Given the description of an element on the screen output the (x, y) to click on. 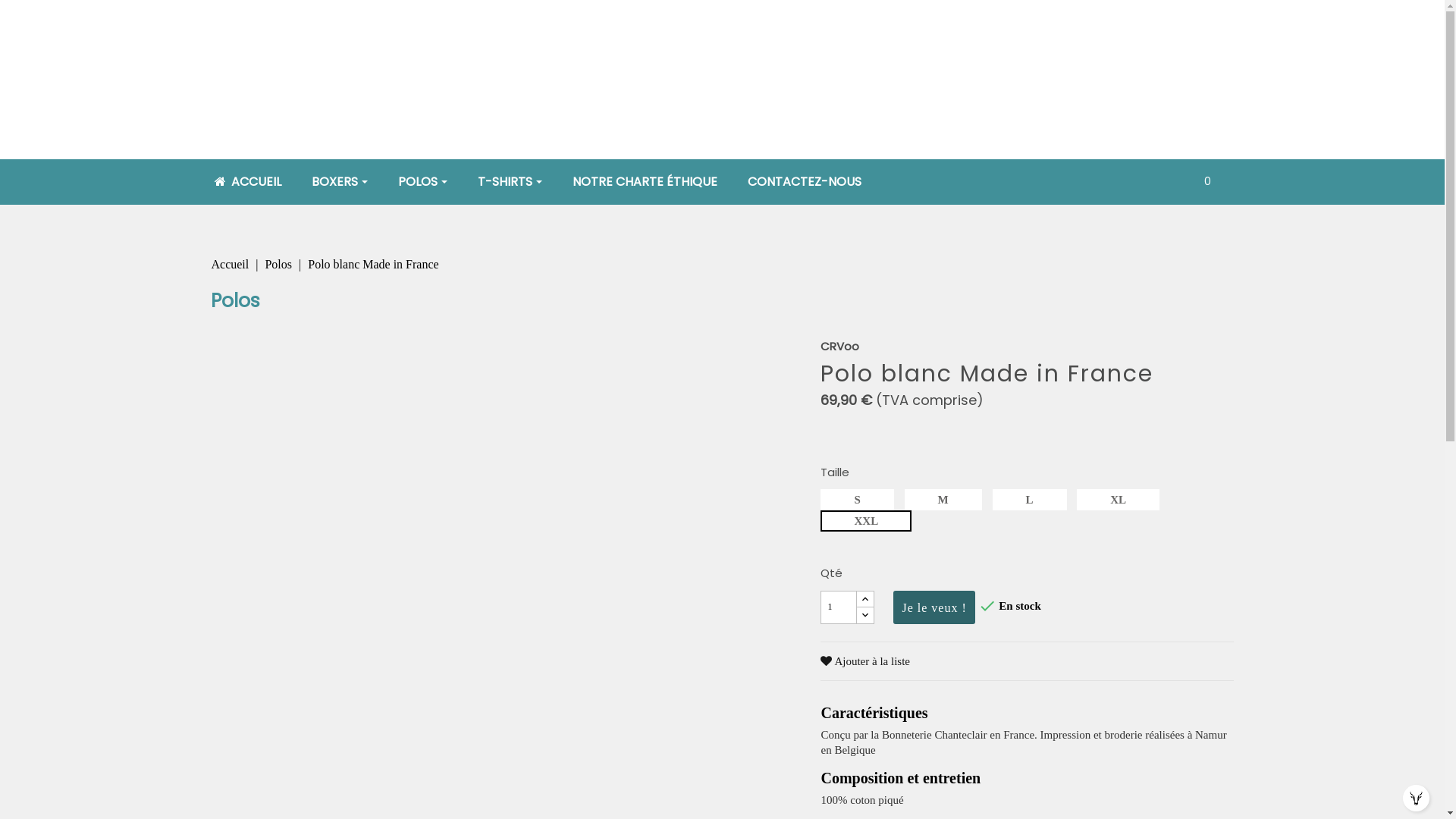
0 Element type: text (1207, 181)
Accueil Element type: text (230, 263)
Scroll to Top Element type: hover (1415, 797)
Polo blanc Made in France Element type: text (372, 263)
POLOS Element type: text (421, 181)
Rechercher Element type: text (1135, 187)
T-SHIRTS Element type: text (509, 181)
Polos Element type: text (279, 263)
CONTACTEZ-NOUS Element type: text (804, 181)
ACCUEIL Element type: text (246, 181)
BOXERS Element type: text (338, 181)
Je le veux ! Element type: text (933, 607)
